Given the description of an element on the screen output the (x, y) to click on. 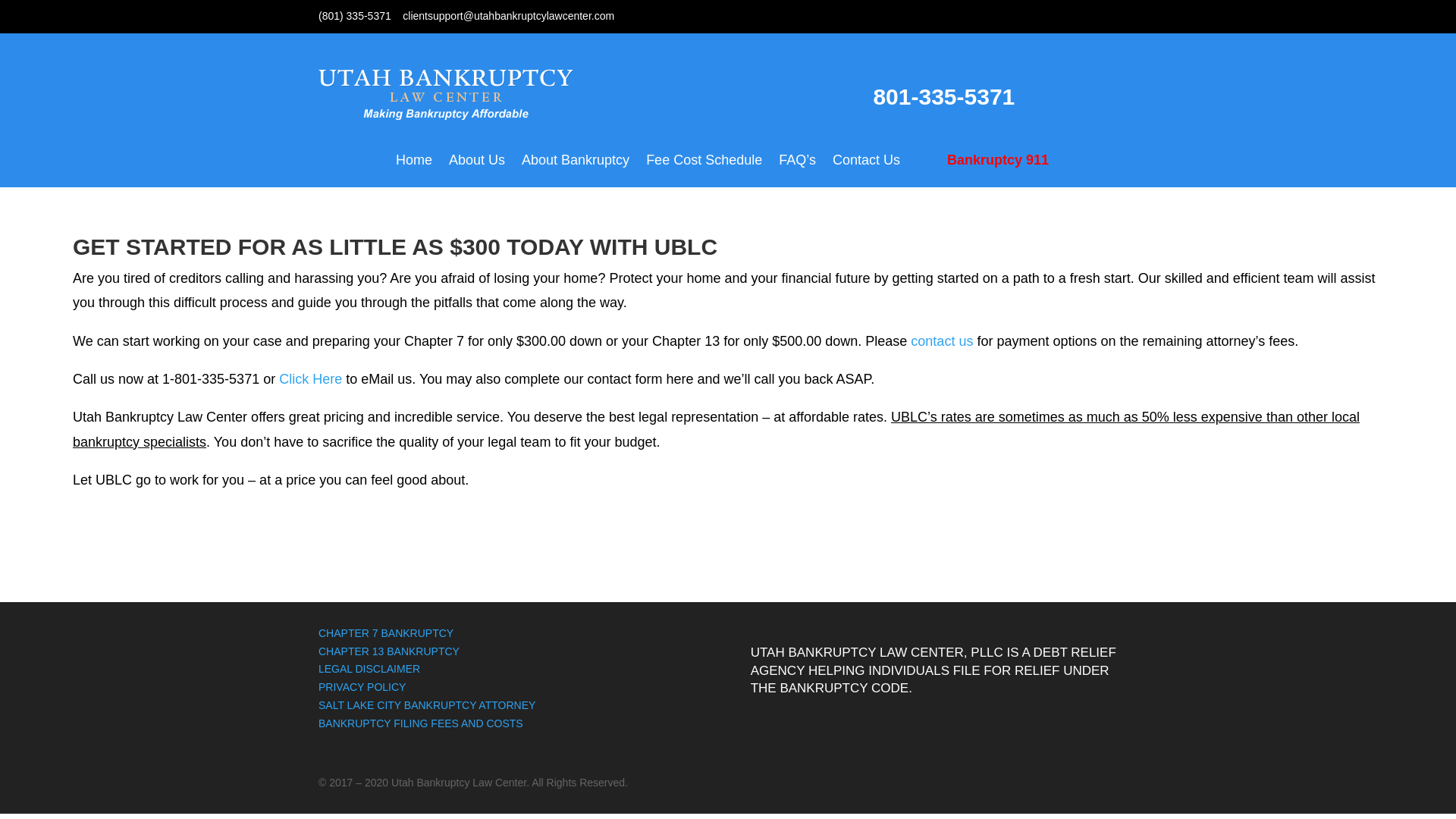
PRIVACY POLICY (362, 686)
About Us (476, 170)
Bankruptcy 911 (988, 170)
Home (414, 170)
Click Here (310, 378)
BANKRUPTCY FILING FEES AND COSTS (420, 723)
CHAPTER 13 BANKRUPTCY (389, 651)
contact us (941, 340)
SALT LAKE CITY BANKRUPTCY ATTORNEY (426, 705)
Contact Us (865, 170)
